Given the description of an element on the screen output the (x, y) to click on. 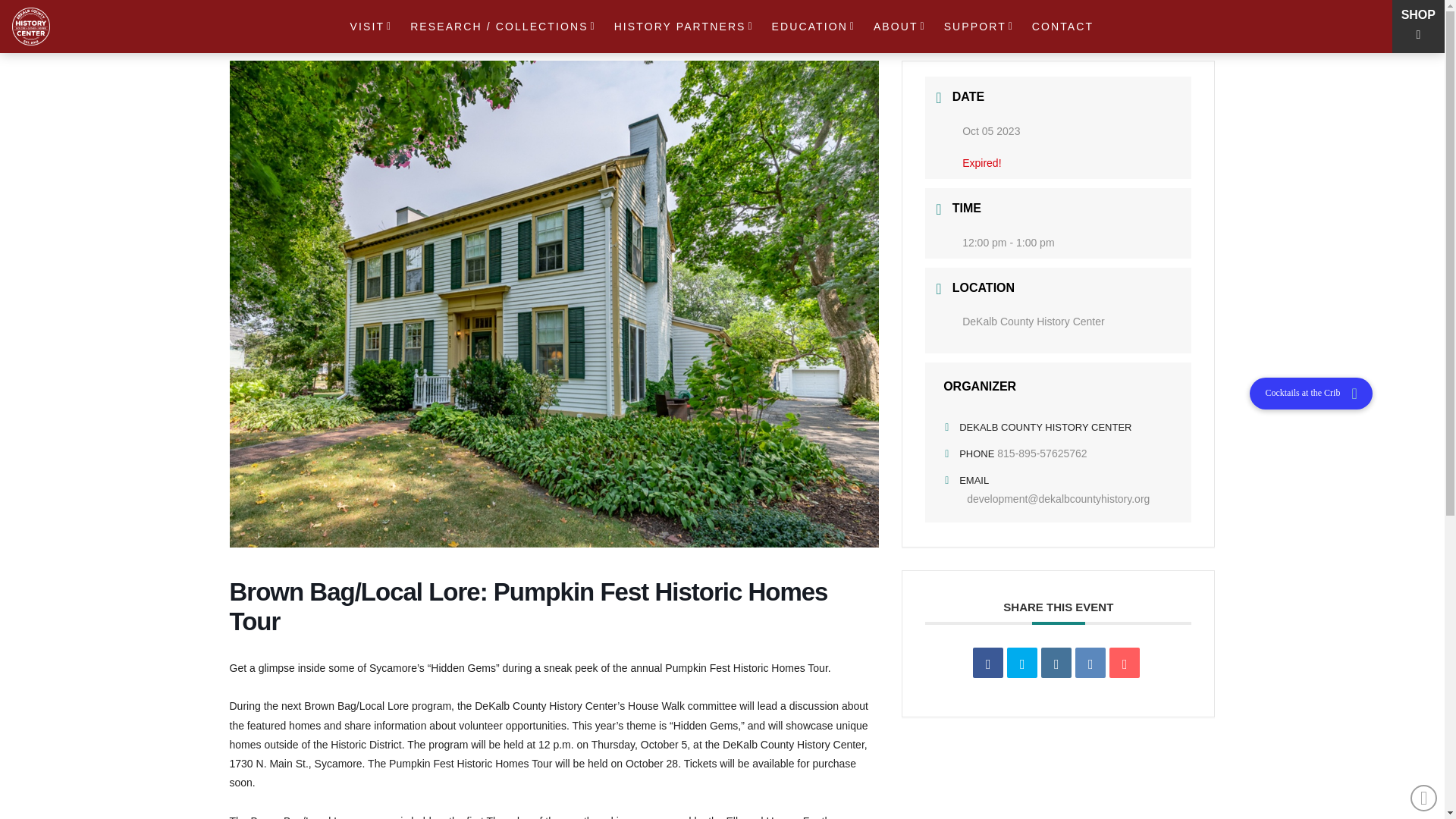
ABOUT (900, 26)
Linkedin (1056, 662)
Email (1124, 662)
Back to Top (1423, 797)
VISIT (372, 26)
SHOP (1417, 13)
SUPPORT (979, 26)
Tweet (1021, 662)
HISTORY PARTNERS (683, 26)
VK (1090, 662)
CONTACT (1061, 26)
EDUCATION (813, 26)
Share on Facebook (987, 662)
815-895-57625762 (1041, 453)
